Given the description of an element on the screen output the (x, y) to click on. 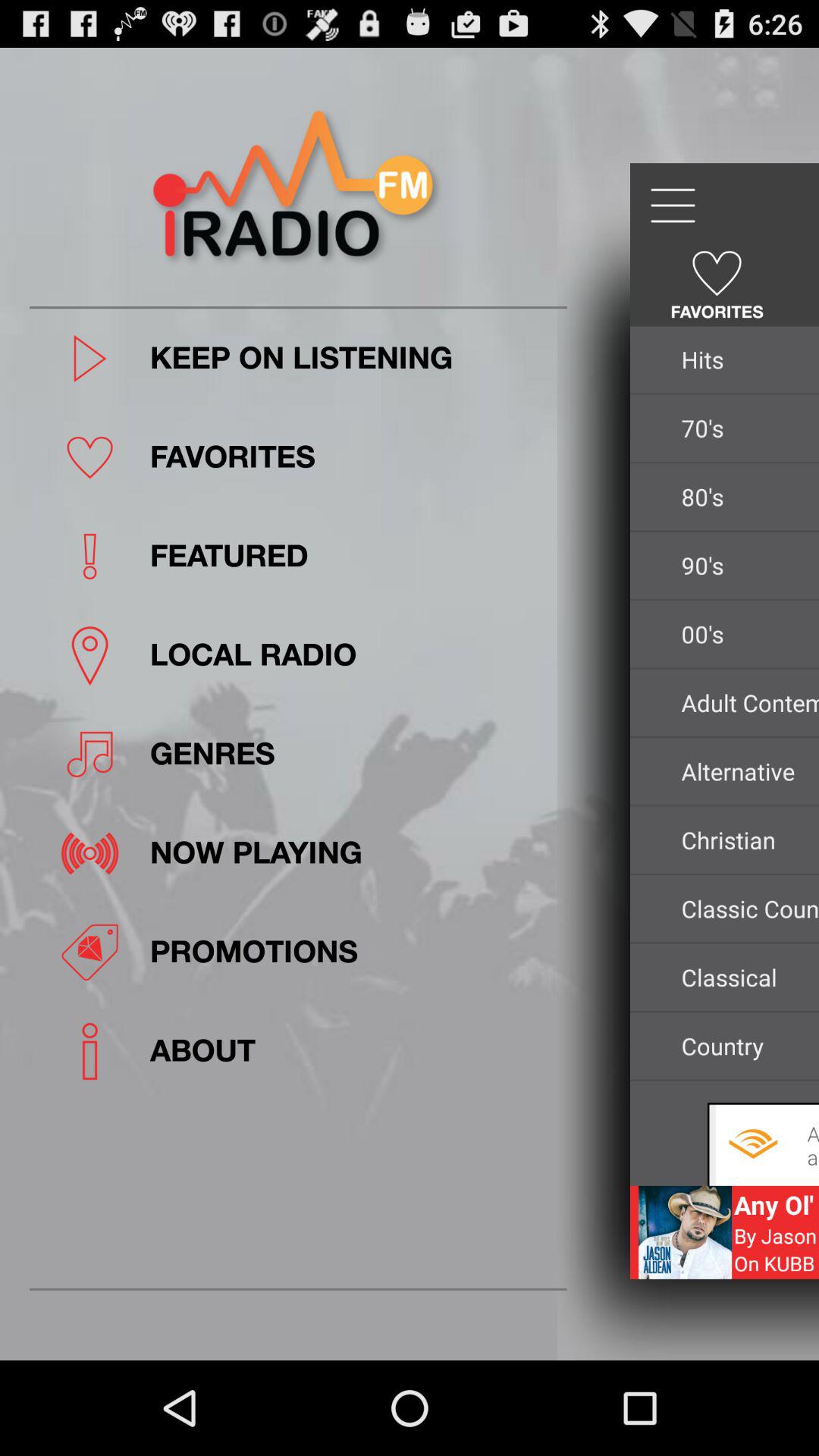
view menu (672, 205)
